Given the description of an element on the screen output the (x, y) to click on. 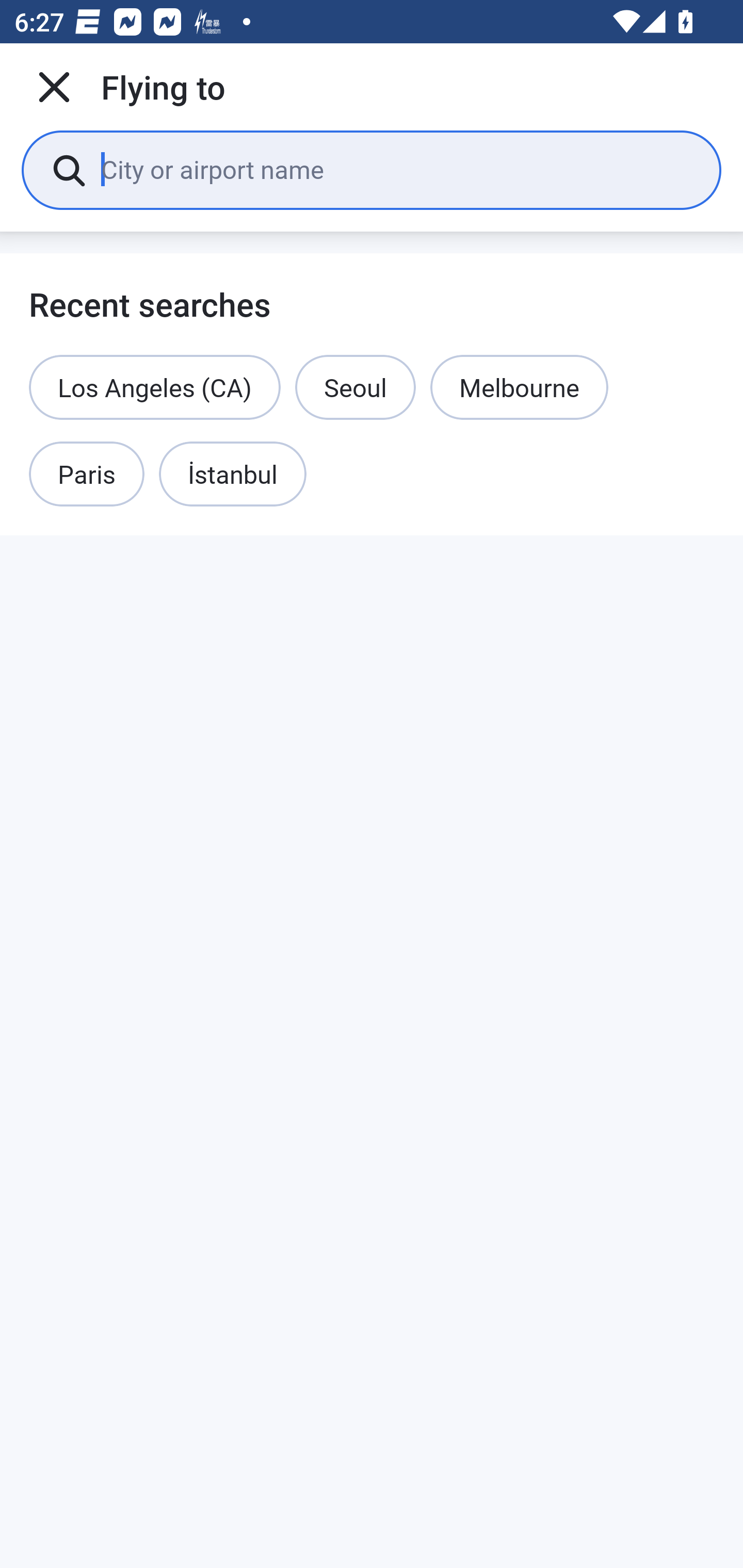
City or airport name (396, 169)
Los Angeles (CA) (154, 387)
Seoul (355, 387)
Melbourne (519, 387)
Paris (86, 474)
İstanbul (232, 474)
